Given the description of an element on the screen output the (x, y) to click on. 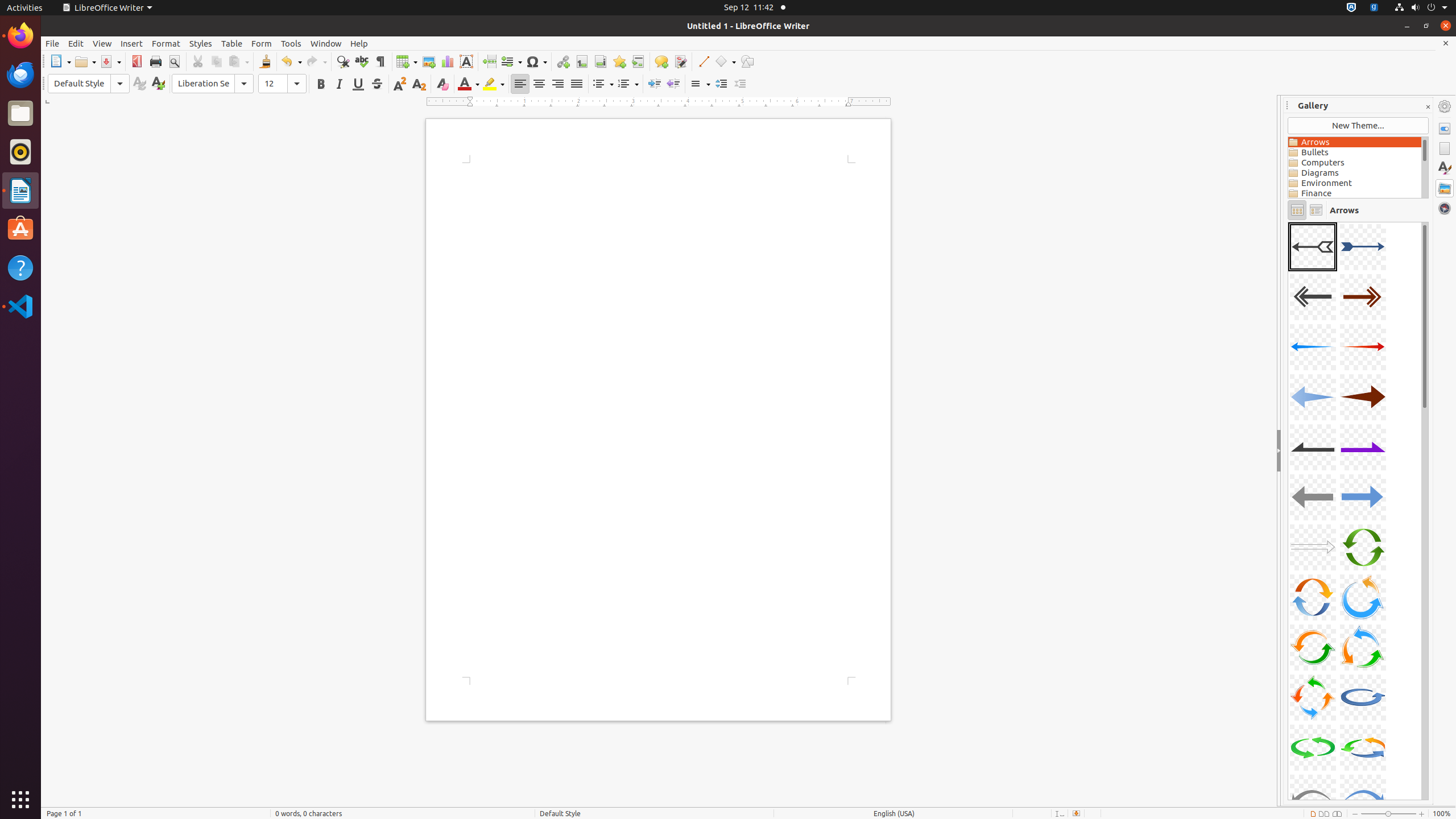
Increase Element type: push-button (721, 83)
Horizontal Ruler Element type: ruler (658, 101)
Save Element type: push-button (109, 61)
Format Element type: menu (165, 43)
Page Element type: radio-button (1444, 148)
